Given the description of an element on the screen output the (x, y) to click on. 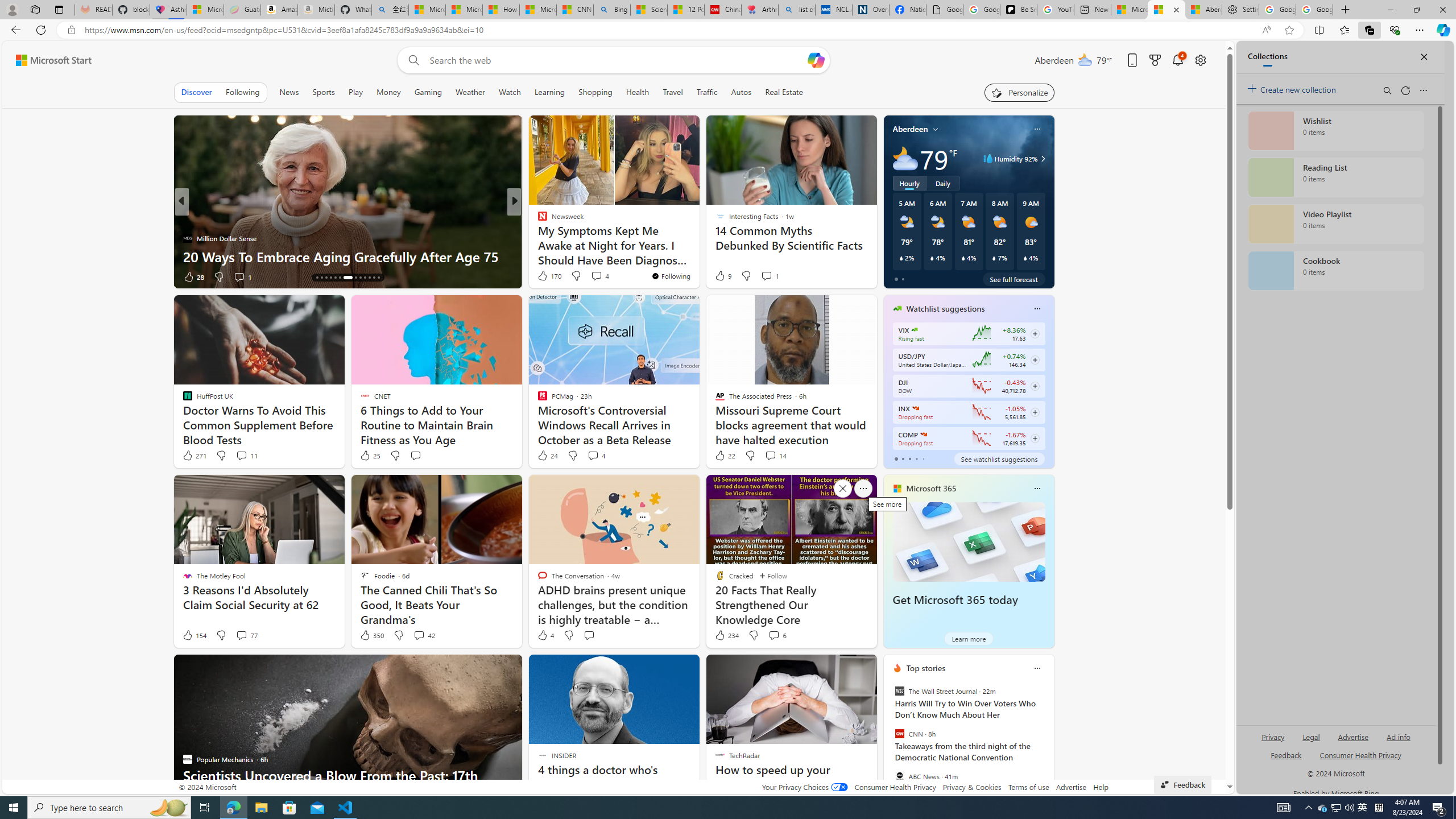
AutomationID: sb_feedback (1286, 754)
AutomationID: tab-15 (321, 277)
Top stories (925, 668)
tab-4 (923, 458)
AutomationID: tab-26 (378, 277)
View comments 5 Comment (592, 276)
